Given the description of an element on the screen output the (x, y) to click on. 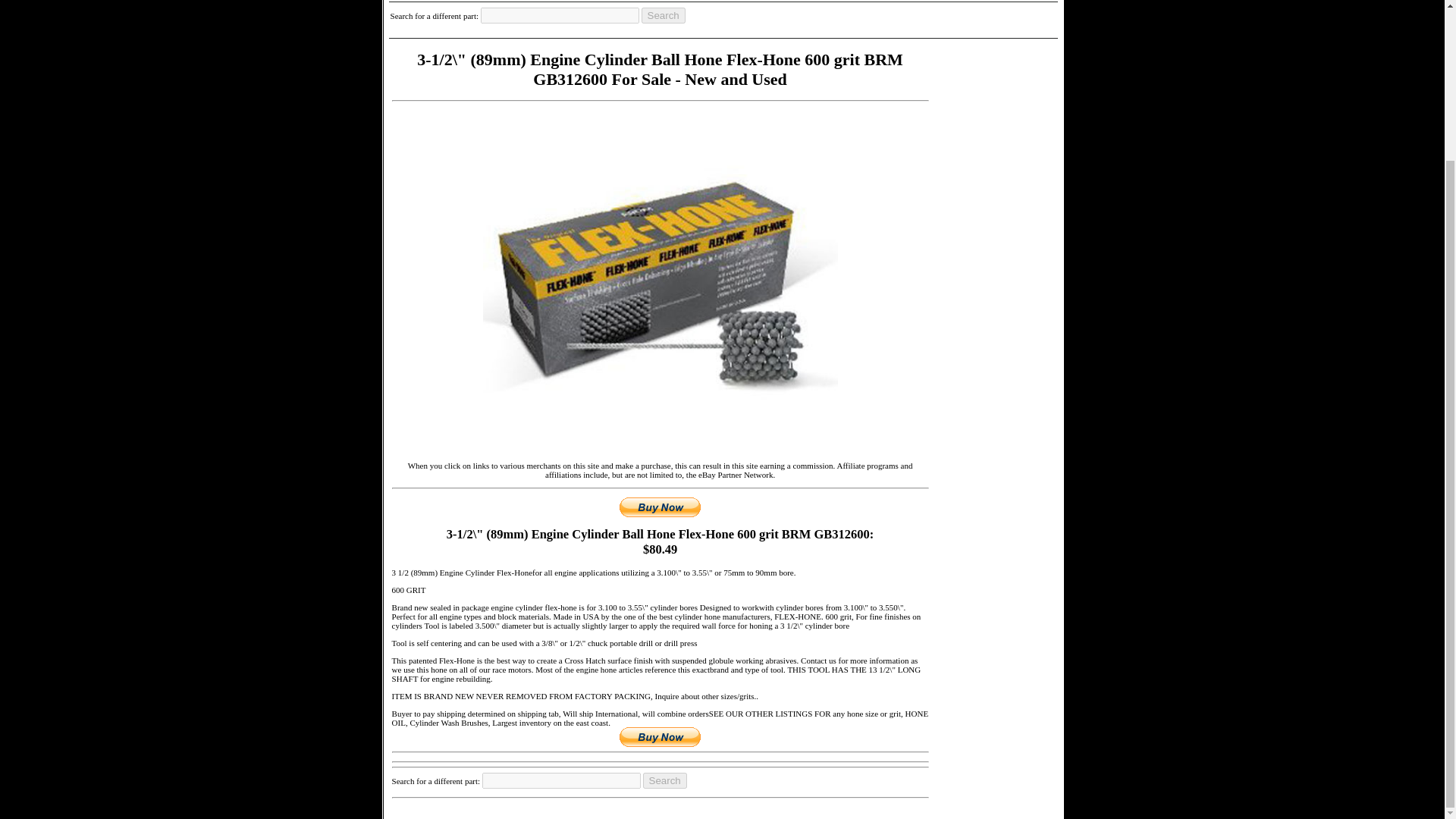
Buy Now (660, 506)
Search (665, 780)
Search (663, 15)
Search (665, 780)
Search (663, 15)
Buy Now (660, 736)
